Given the description of an element on the screen output the (x, y) to click on. 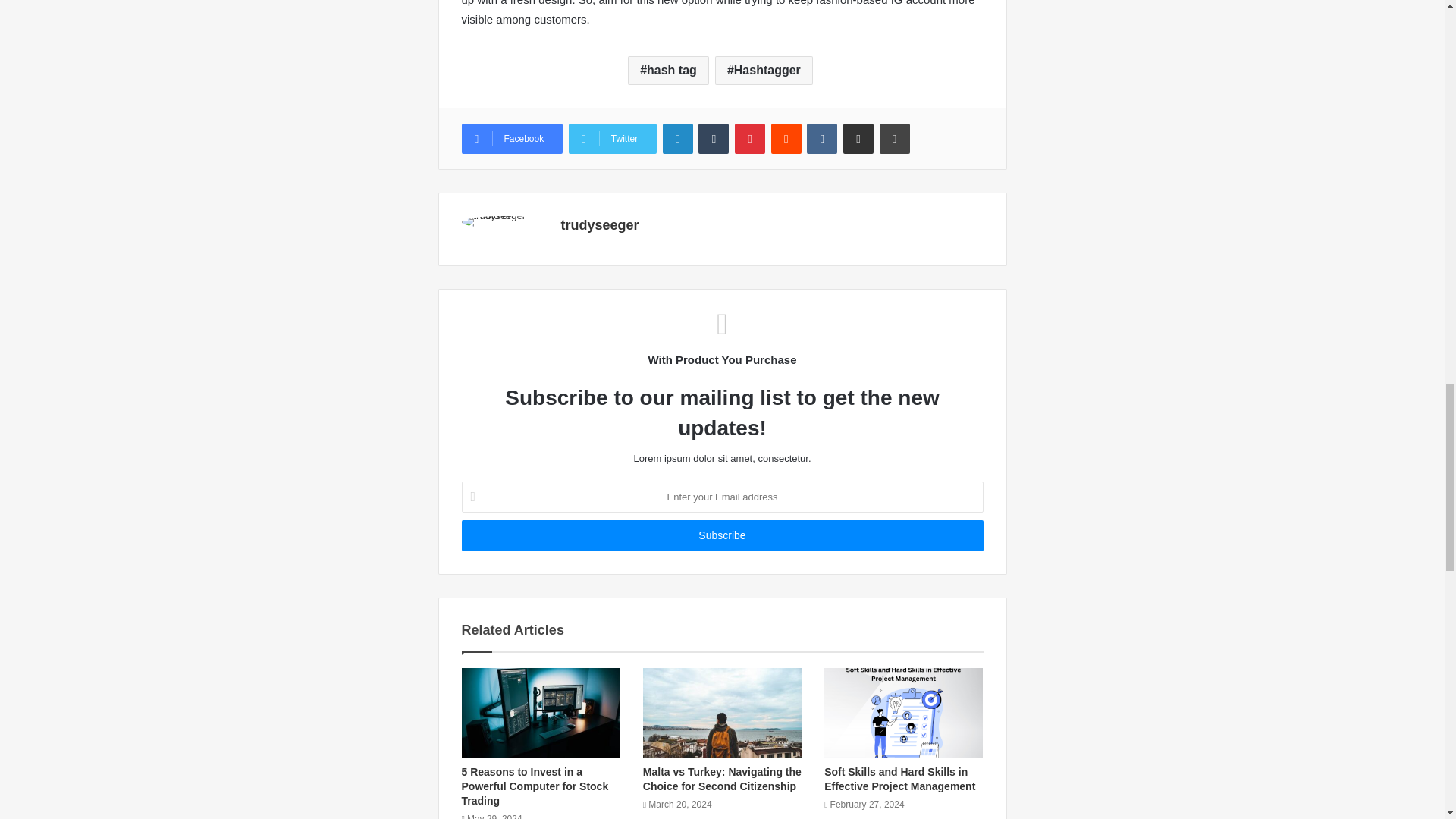
Pinterest (750, 138)
Reddit (786, 138)
LinkedIn (677, 138)
Facebook (511, 138)
Hashtagger (763, 70)
Reddit (786, 138)
hash tag (668, 70)
VKontakte (821, 138)
Facebook (511, 138)
Print (894, 138)
Share via Email (858, 138)
Pinterest (750, 138)
LinkedIn (677, 138)
Twitter (612, 138)
VKontakte (821, 138)
